Given the description of an element on the screen output the (x, y) to click on. 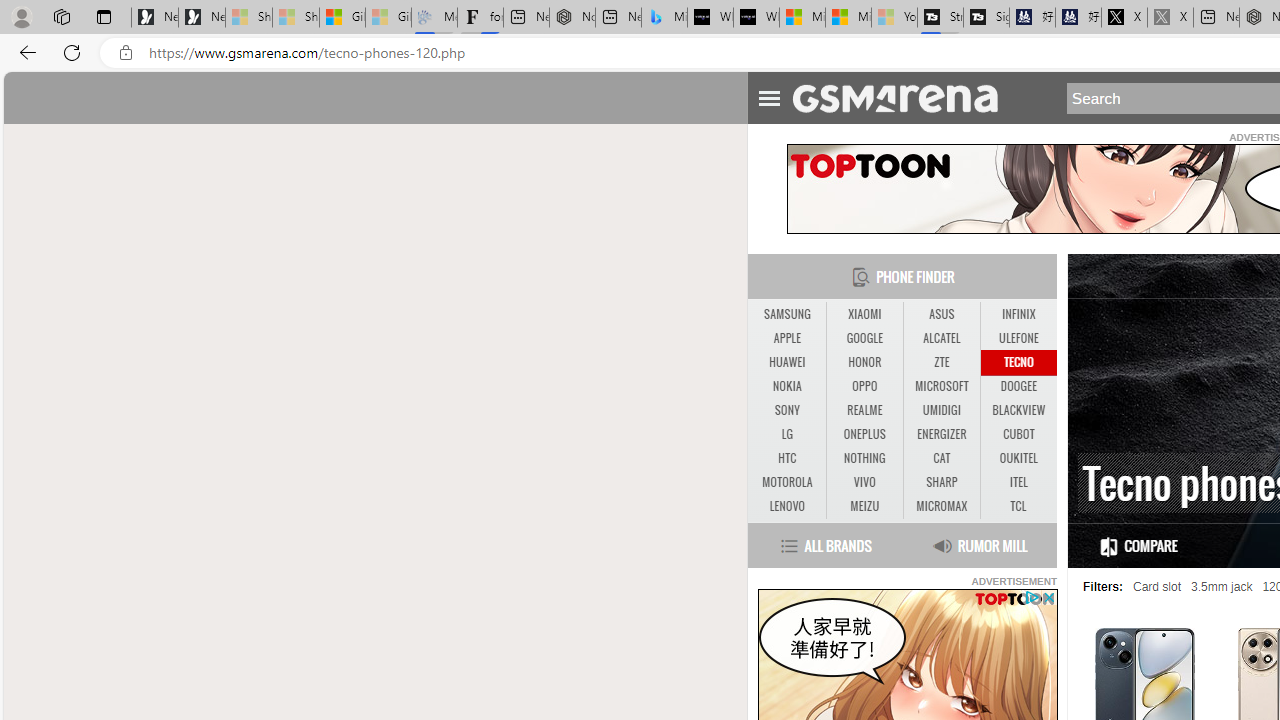
CAT (941, 457)
VIVO (863, 482)
Class: privacy_out (1030, 596)
ITEL (1018, 483)
TCL (1018, 506)
HTC (786, 458)
SAMSUNG (786, 314)
DOOGEE (1018, 386)
NOTHING (864, 458)
OUKITEL (1018, 458)
CUBOT (1018, 434)
CUBOT (1018, 434)
Microsoft Bing Travel - Shangri-La Hotel Bangkok (664, 17)
APPLE (786, 338)
